Given the description of an element on the screen output the (x, y) to click on. 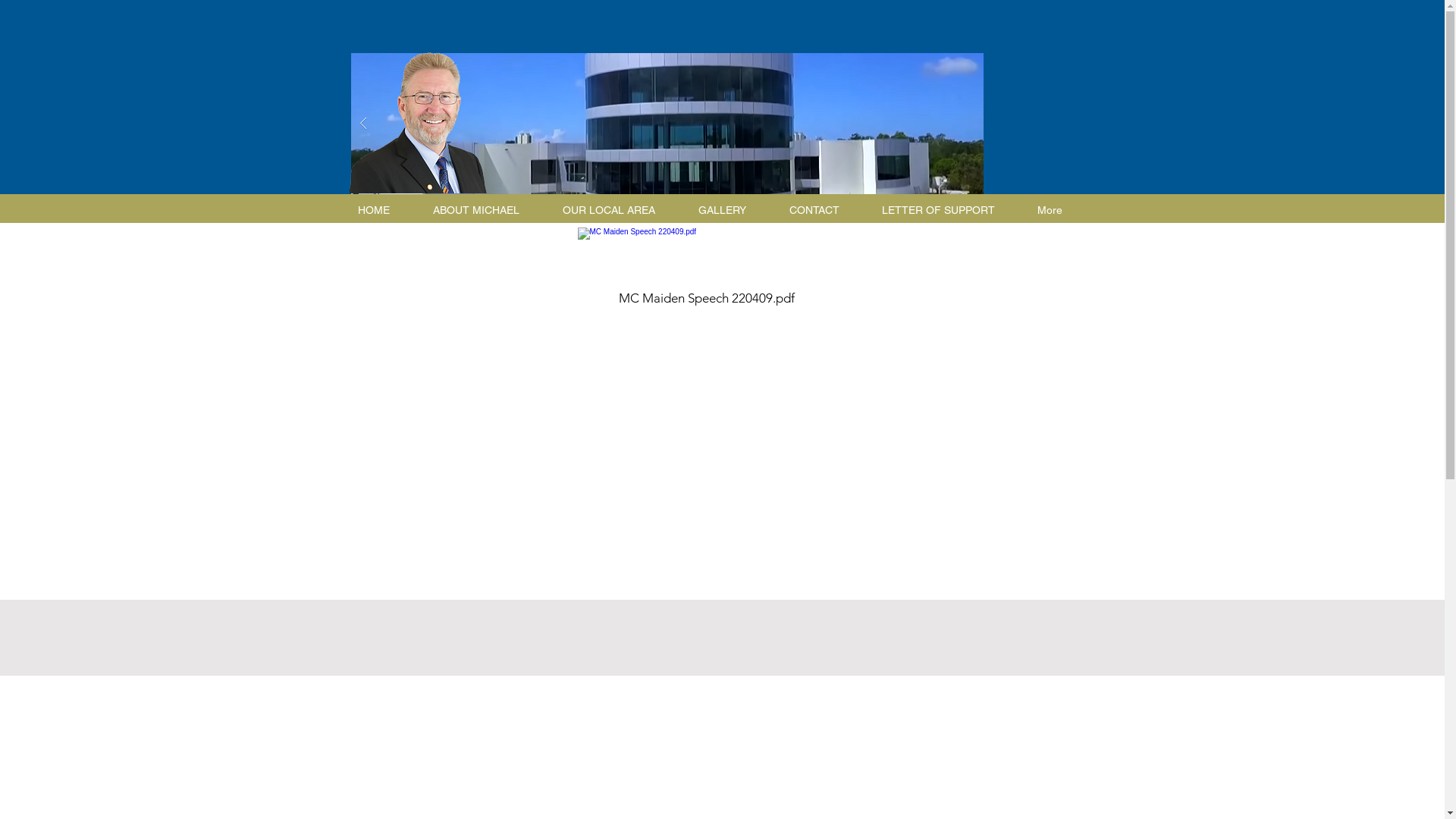
GALLERY Element type: text (729, 209)
crandon_newphotobanner.png Element type: hover (417, 122)
HOME Element type: text (379, 209)
External YouTube Element type: hover (901, 458)
External YouTube Element type: hover (525, 458)
CONTACT Element type: text (821, 209)
MC Maiden Speech 220409.pdf Element type: text (706, 269)
ABOUT MICHAEL Element type: text (483, 209)
LETTER OF SUPPORT Element type: text (944, 209)
OUR LOCAL AREA Element type: text (615, 209)
